Given the description of an element on the screen output the (x, y) to click on. 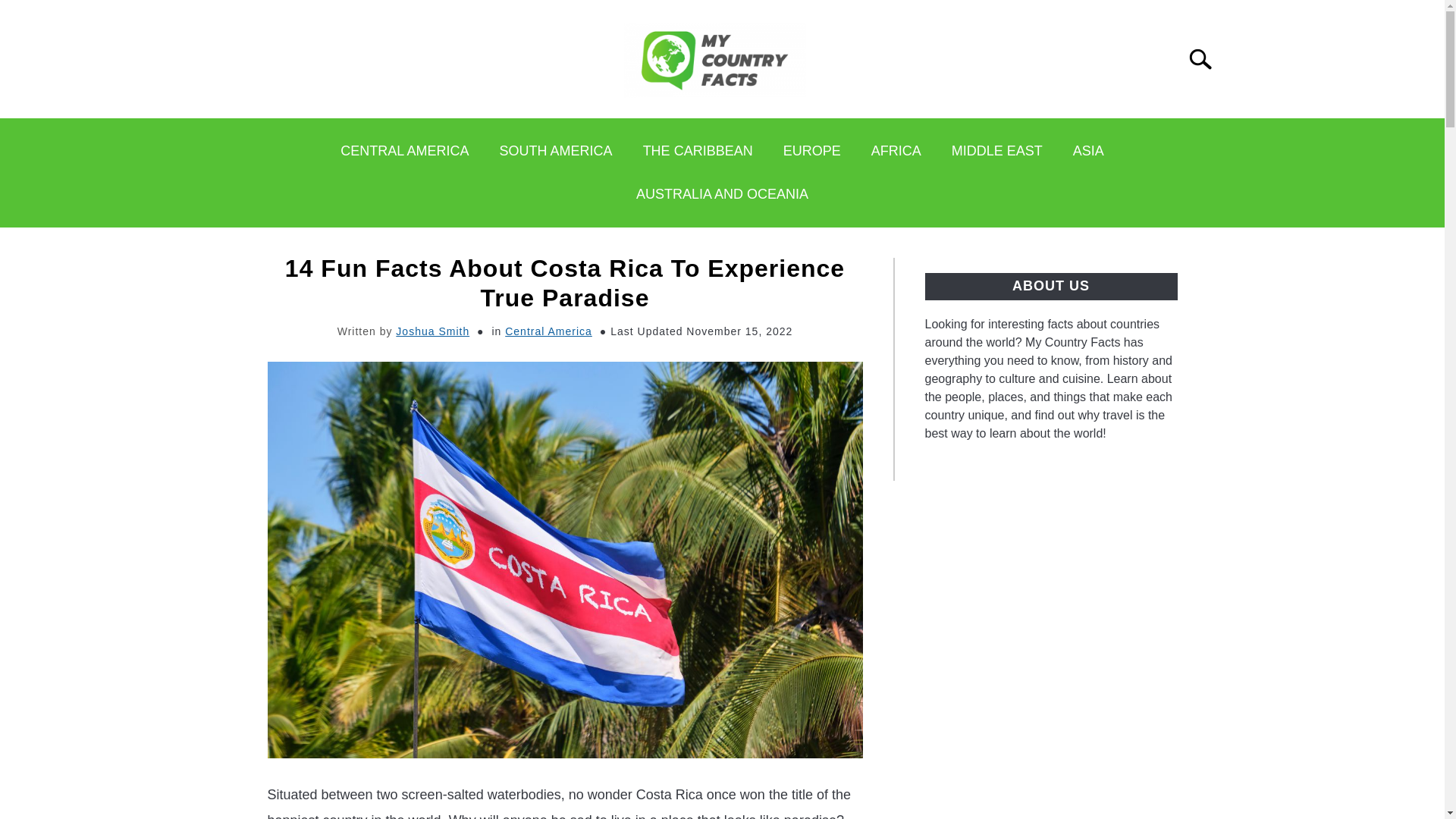
CENTRAL AMERICA (403, 150)
Central America (548, 331)
Search (1199, 58)
THE CARIBBEAN (697, 150)
SOUTH AMERICA (555, 150)
Joshua Smith (432, 331)
MIDDLE EAST (997, 150)
ASIA (1088, 150)
EUROPE (812, 150)
AFRICA (896, 150)
AUSTRALIA AND OCEANIA (722, 194)
